Given the description of an element on the screen output the (x, y) to click on. 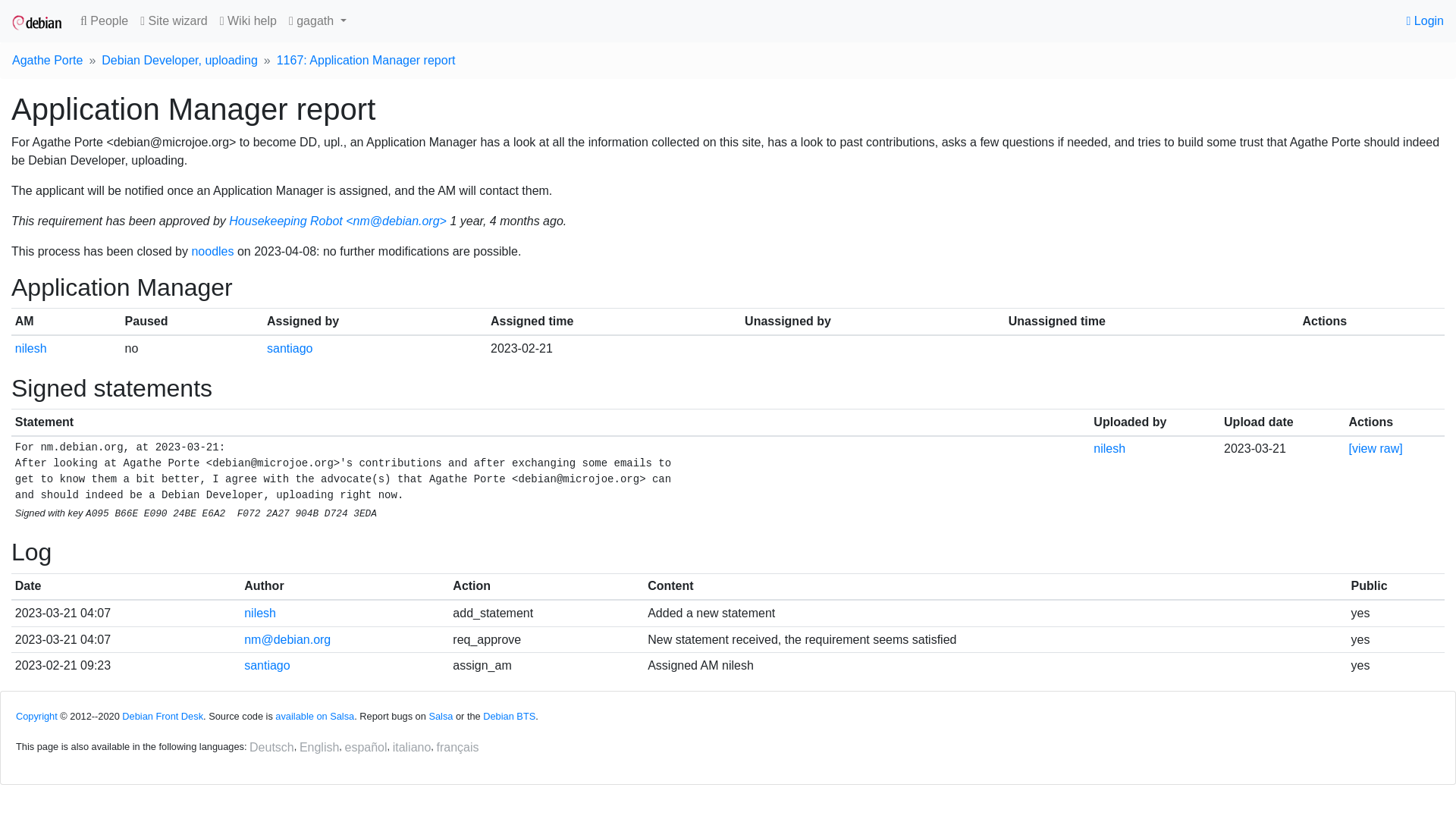
Copyright (37, 715)
nilesh (30, 348)
Site wizard (173, 20)
People (103, 20)
German (271, 747)
noodles (211, 250)
Italian (411, 747)
available on Salsa (314, 715)
Debian Developer, uploading (179, 60)
Debian Front Desk (162, 715)
